Given the description of an element on the screen output the (x, y) to click on. 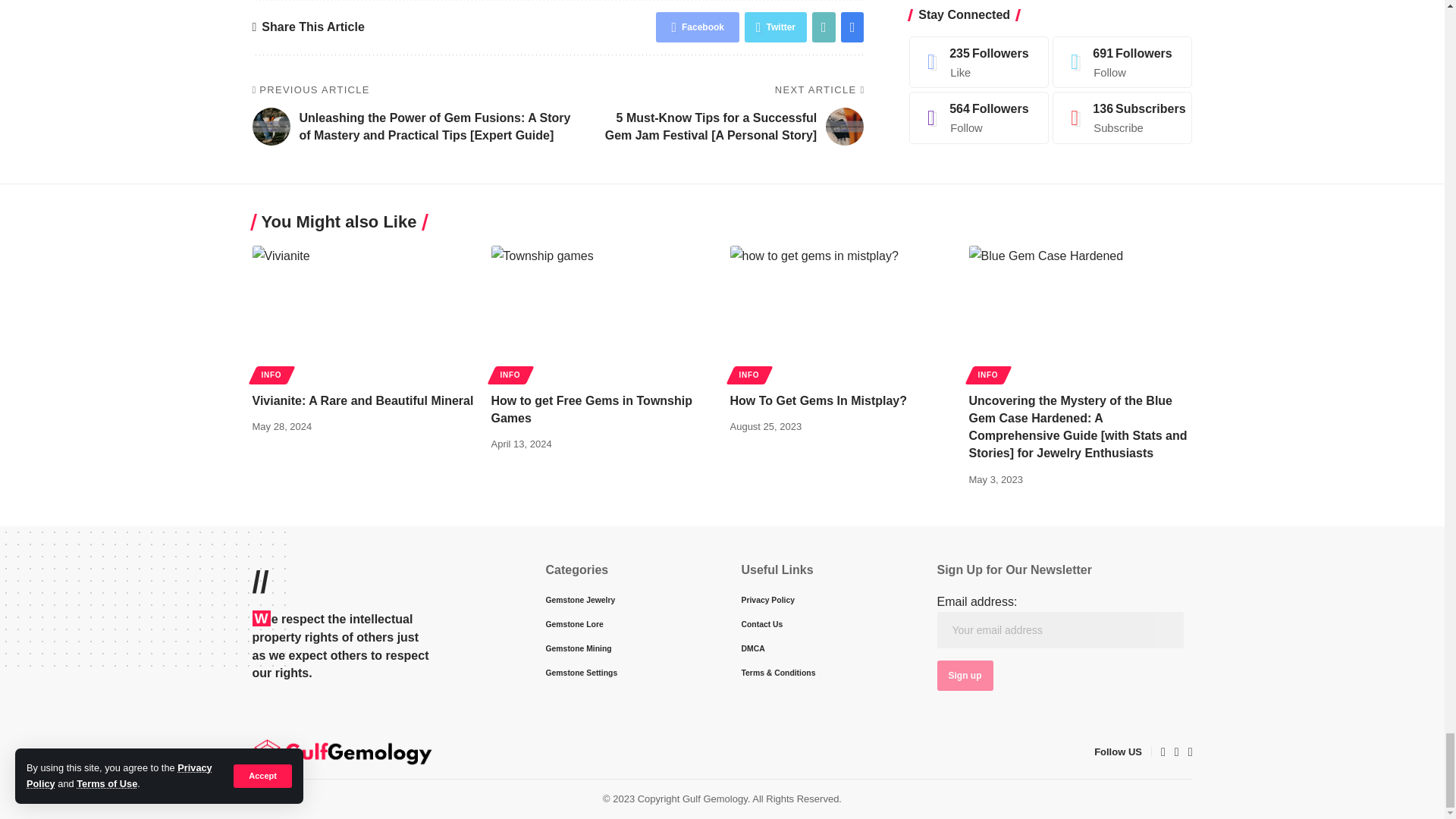
Sign up (964, 675)
